Given the description of an element on the screen output the (x, y) to click on. 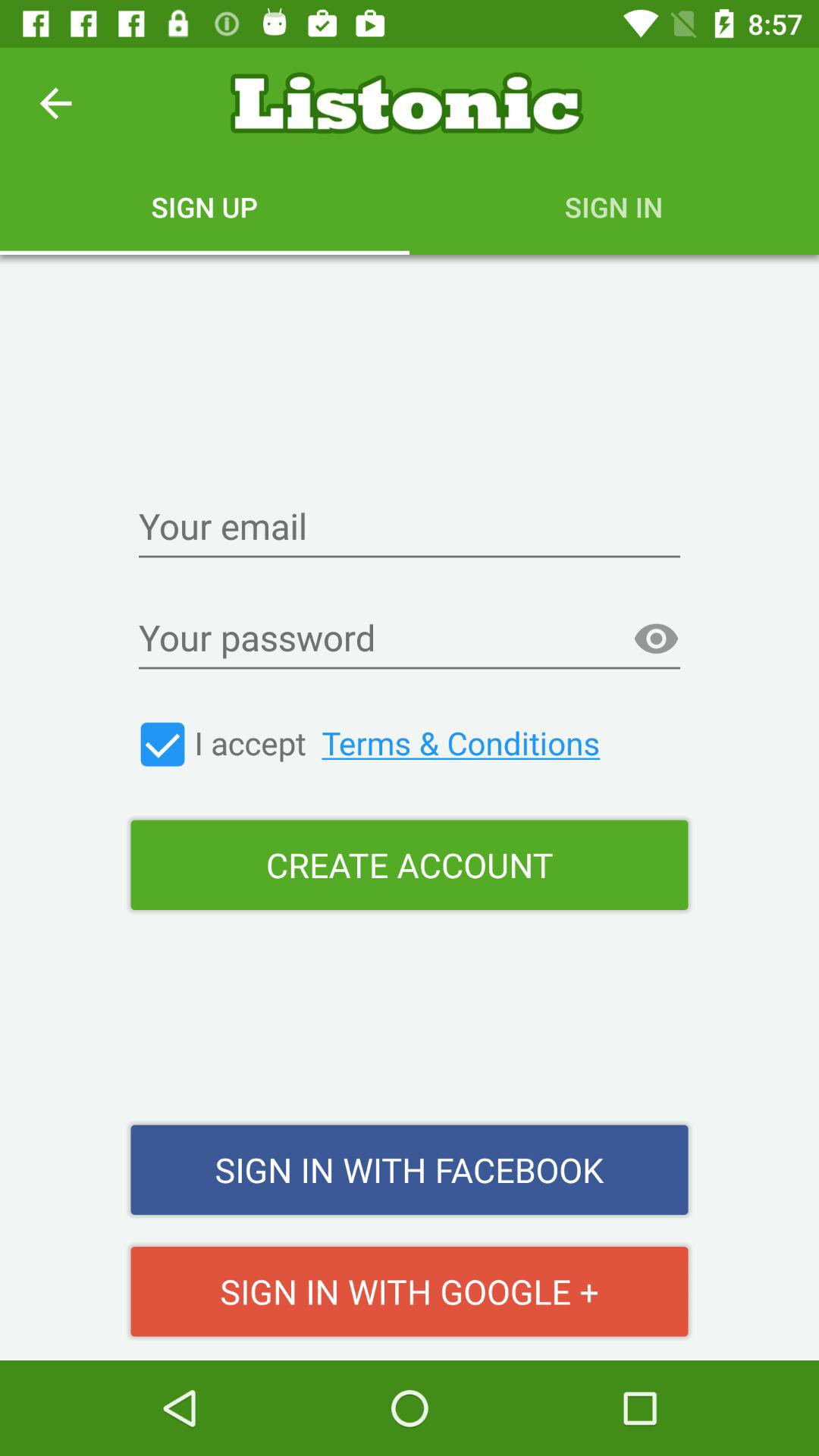
open item above create account icon (400, 742)
